Given the description of an element on the screen output the (x, y) to click on. 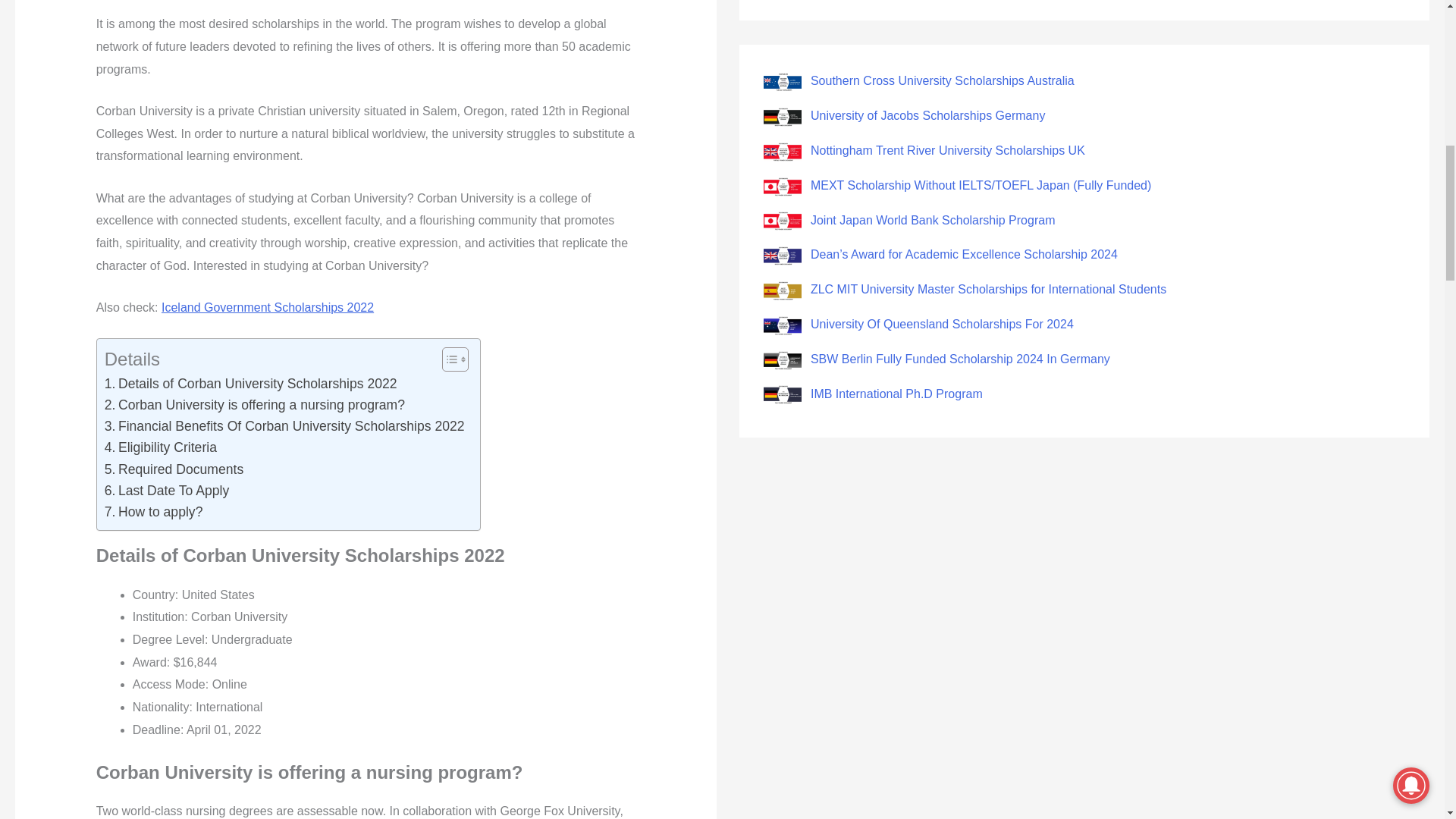
Details of Corban University Scholarships 2022 (250, 383)
Corban University is offering a nursing program? (254, 404)
Required Documents (173, 468)
Last Date To Apply (167, 490)
Financial Benefits Of Corban University Scholarships 2022 (284, 425)
Eligibility Criteria (160, 446)
How to apply? (153, 511)
